Given the description of an element on the screen output the (x, y) to click on. 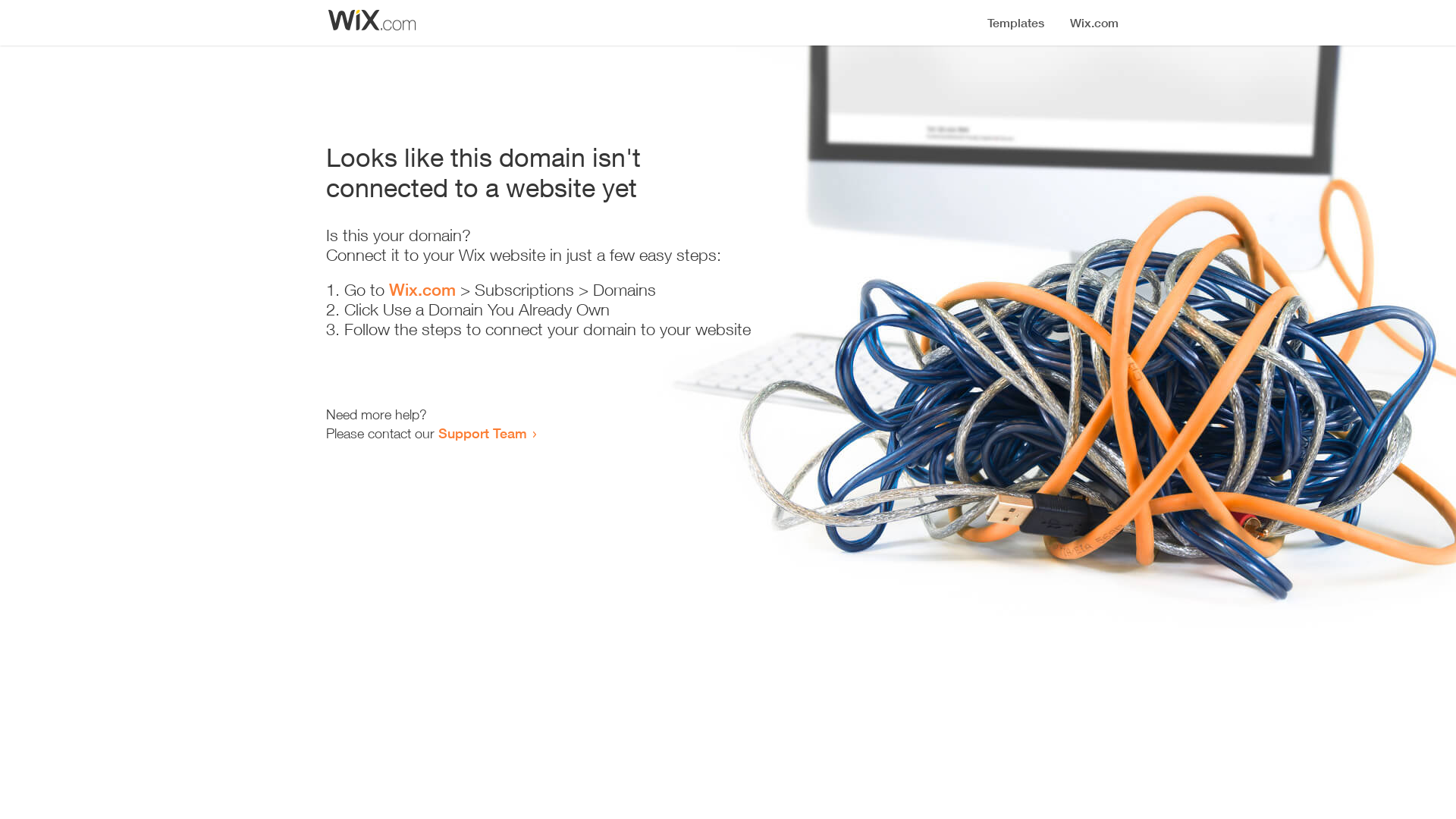
Support Team Element type: text (482, 432)
Wix.com Element type: text (422, 289)
